Given the description of an element on the screen output the (x, y) to click on. 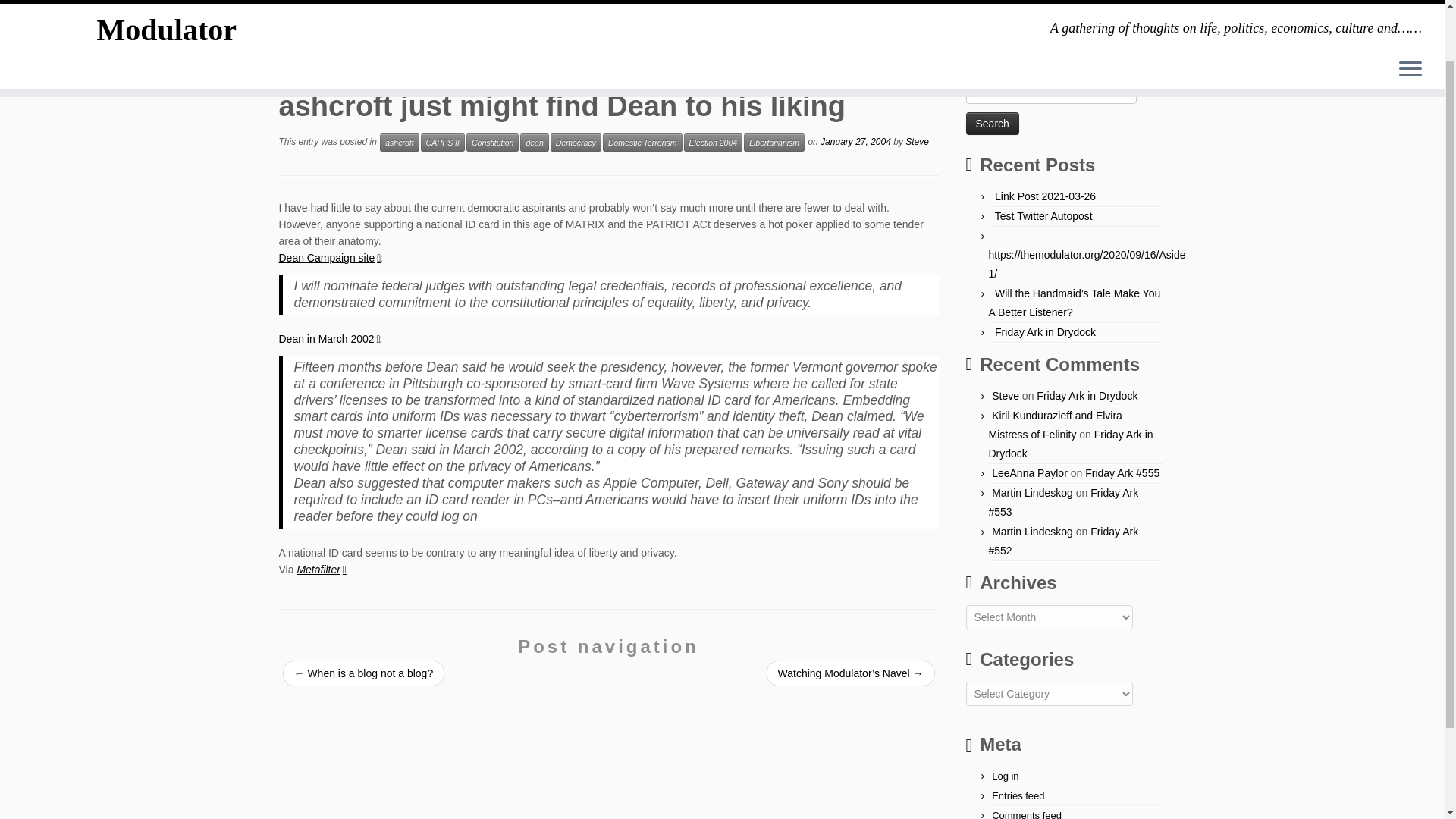
View all posts in dean (533, 142)
Libertarianism (774, 142)
CAPPS II (442, 142)
Home (293, 63)
View all posts in Domestic Terrorism (642, 142)
Test Twitter Autopost (1043, 215)
Friday Ark in Drydock (1045, 331)
Friday Ark in Drydock (1070, 443)
Search (992, 123)
View all posts in CAPPS II (442, 142)
